Given the description of an element on the screen output the (x, y) to click on. 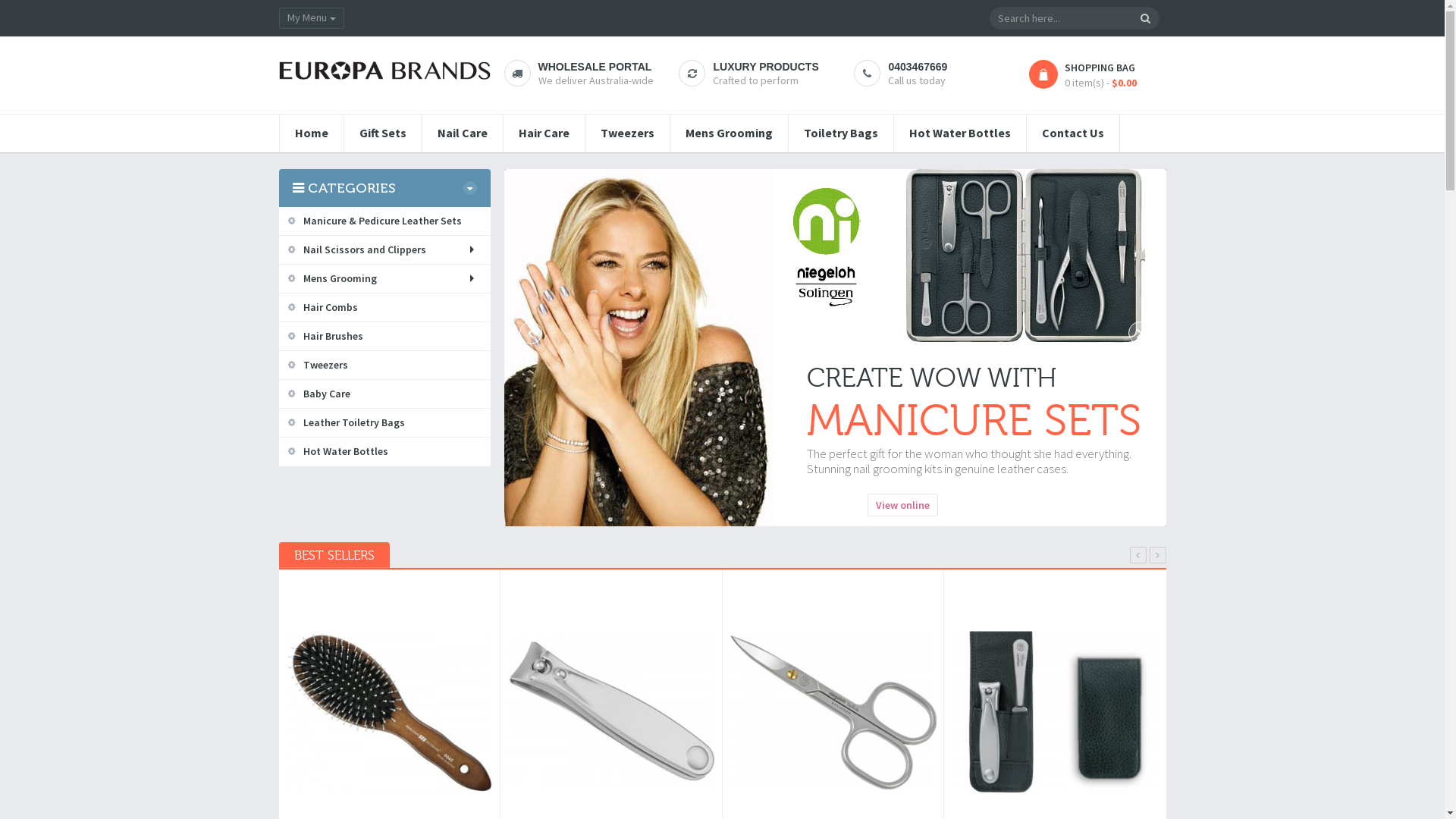
Mens Grooming Element type: text (384, 278)
Hair Brushes Element type: text (384, 336)
Gift Sets Element type: text (382, 132)
Hair Care Element type: text (543, 132)
Home Element type: text (310, 132)
Europa Brands | Wholesalers Website Element type: hover (384, 69)
Manicure & Pedicure Leather Sets Element type: text (384, 221)
Mens Grooming Element type: text (728, 132)
Tweezers Element type: text (627, 132)
Hair Combs Element type: text (384, 307)
Toiletry Bags Element type: text (840, 132)
Hot Water Bottles Element type: text (384, 451)
Nail Scissors and Clippers Element type: text (384, 249)
Leather Toiletry Bags Element type: text (384, 422)
Contact Us Element type: text (1072, 132)
SHOPPING BAG Element type: text (1099, 67)
Hot Water Bottles Element type: text (959, 132)
Search Element type: hover (1144, 17)
Tweezers Element type: text (384, 365)
Nail Care Element type: text (461, 132)
View More Element type: text (682, 415)
Baby Care Element type: text (384, 393)
